Given the description of an element on the screen output the (x, y) to click on. 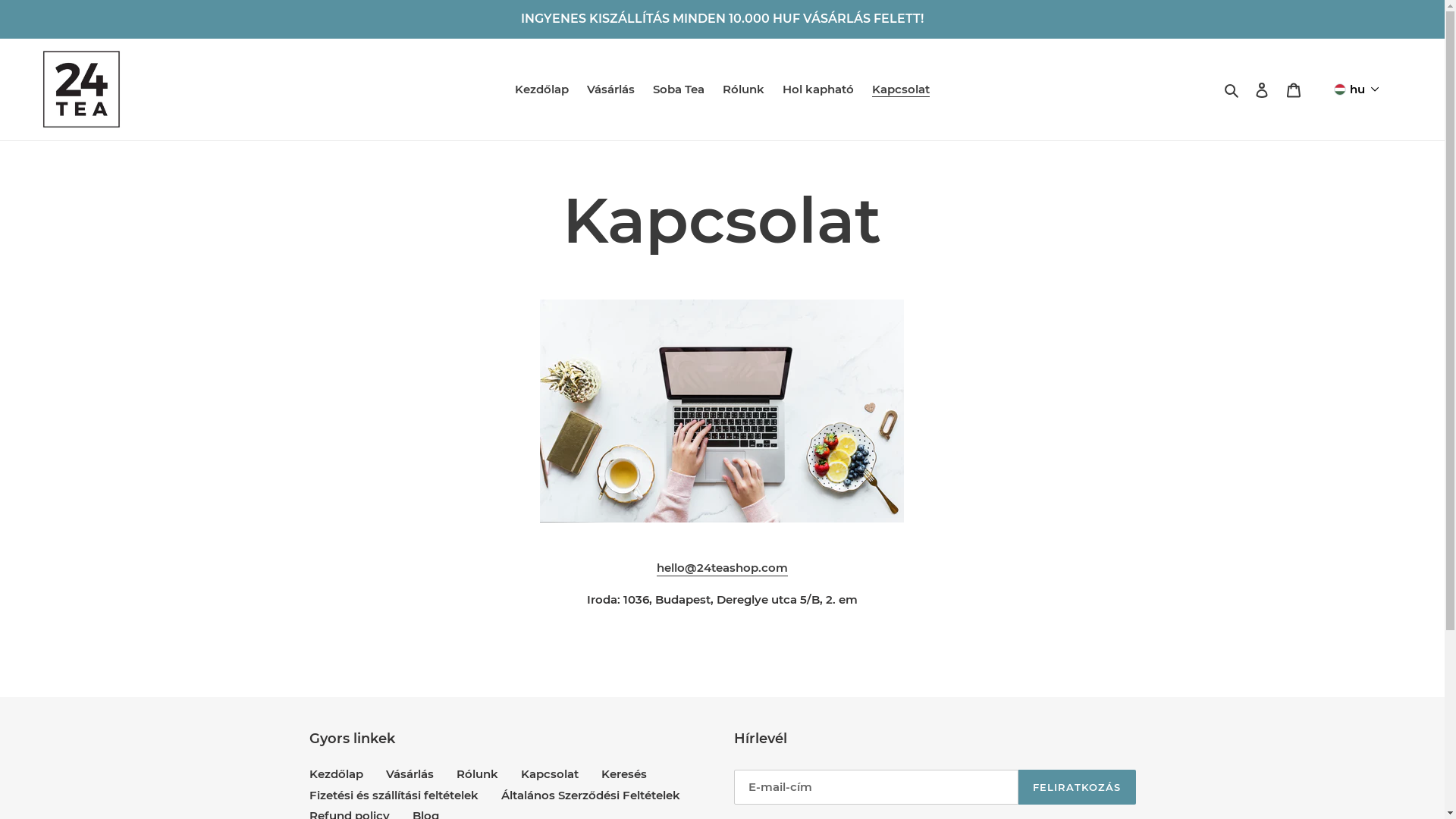
hu Element type: text (1355, 89)
Kapcsolat Element type: text (548, 773)
Kapcsolat Element type: text (900, 89)
Soba Tea Element type: text (678, 89)
hello@24teashop.com Element type: text (721, 568)
